Given the description of an element on the screen output the (x, y) to click on. 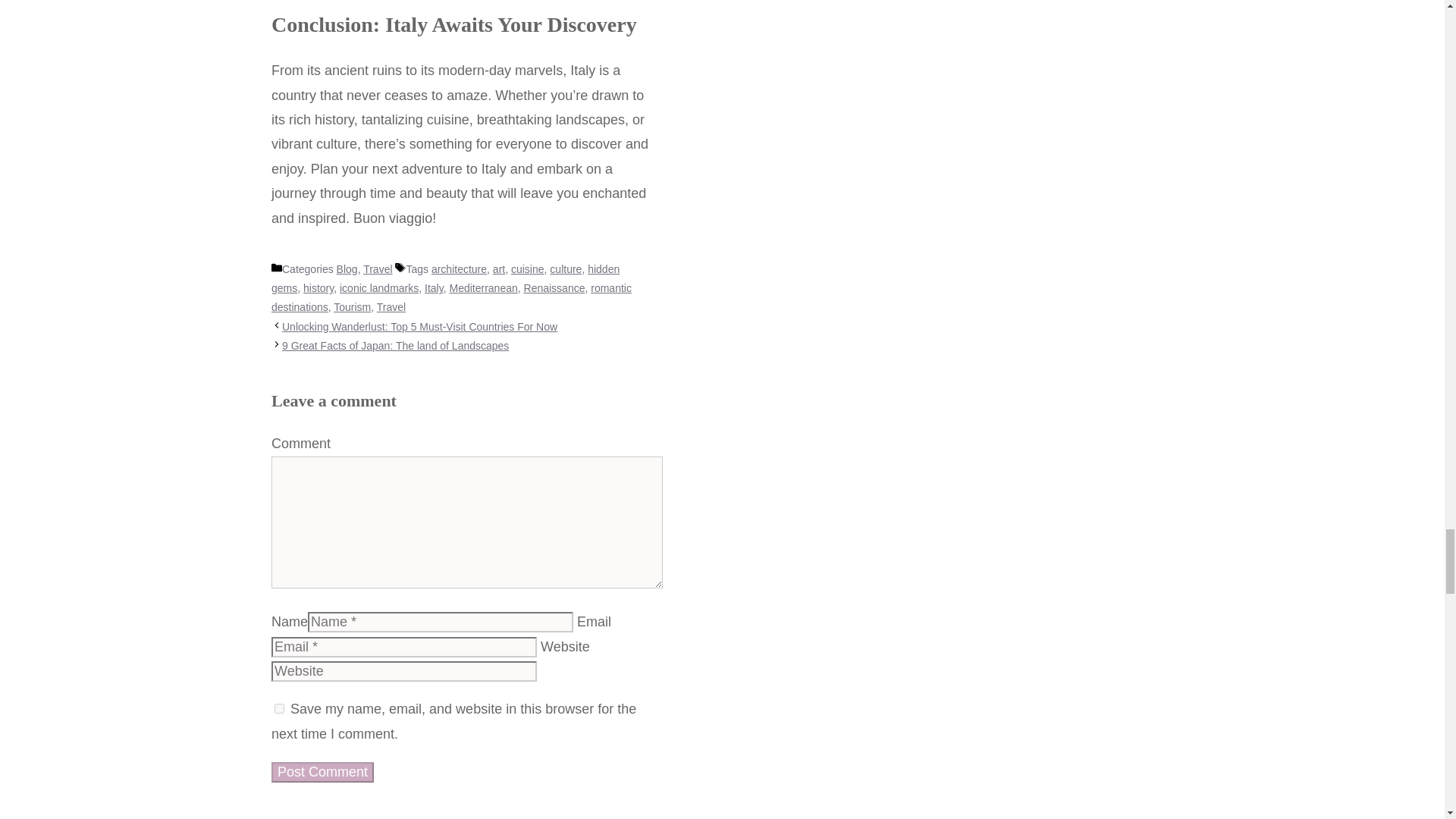
yes (279, 708)
art (499, 268)
culture (565, 268)
architecture (458, 268)
iconic landmarks (379, 287)
Post Comment (322, 772)
hidden gems (445, 278)
Mediterranean (482, 287)
cuisine (527, 268)
Italy (434, 287)
